Given the description of an element on the screen output the (x, y) to click on. 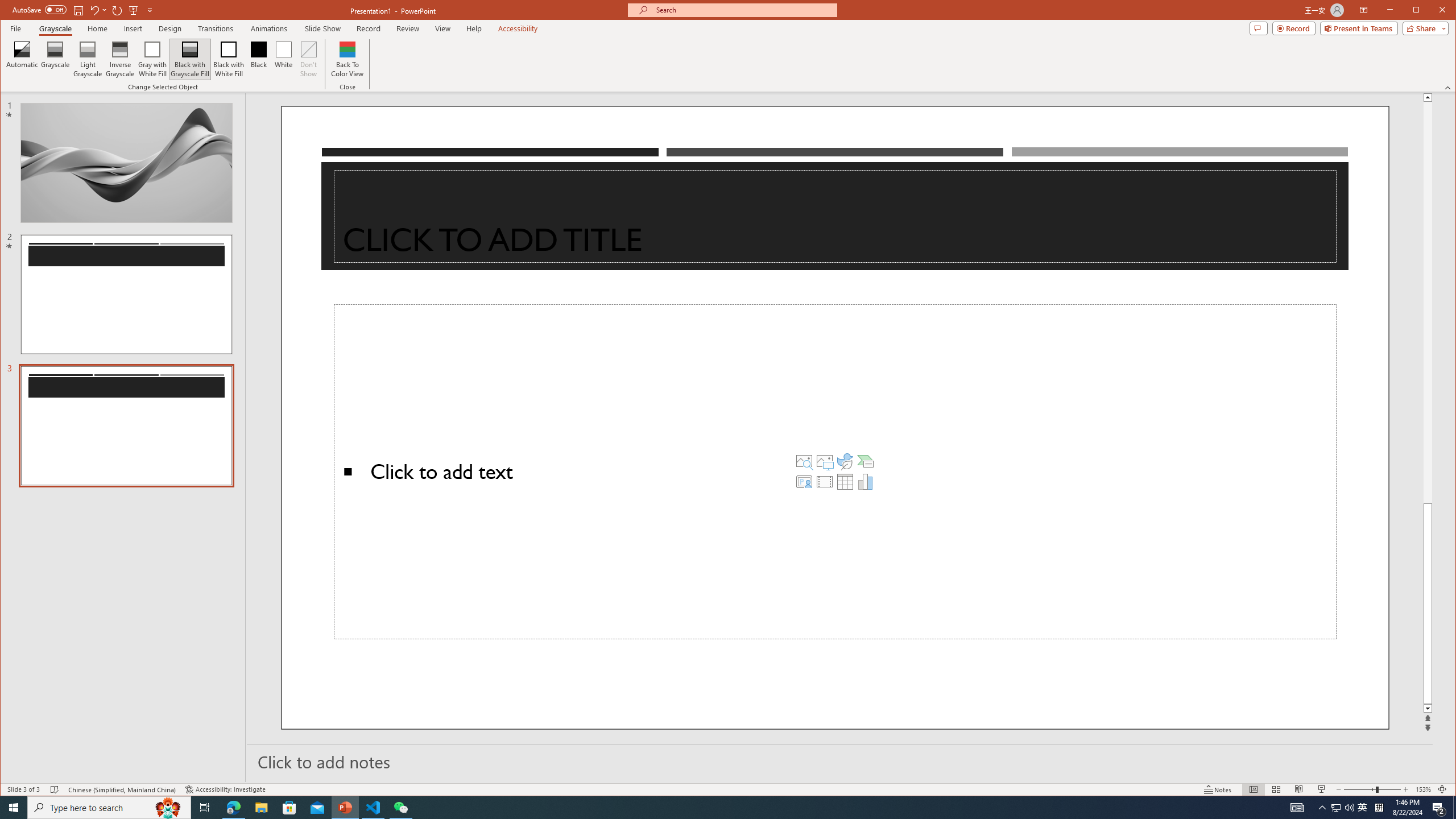
Task View (204, 807)
Line down (1427, 709)
AutomationID: 4105 (1297, 807)
Microsoft search (742, 10)
Collapse the Ribbon (1448, 87)
Show desktop (1454, 807)
Pictures (824, 461)
